Given the description of an element on the screen output the (x, y) to click on. 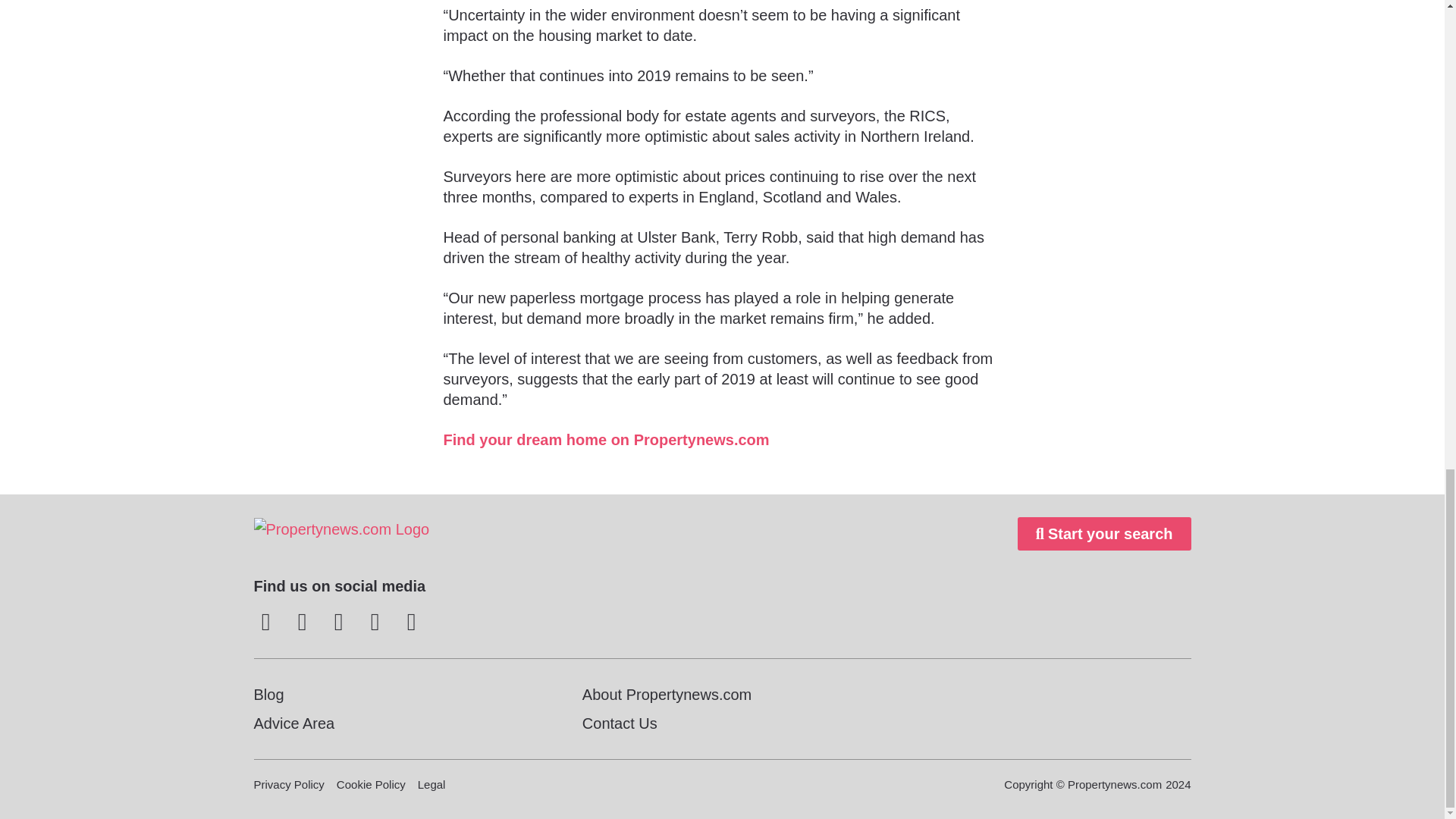
Cookie Policy (371, 784)
Blog (392, 694)
Contact Us (721, 722)
Find your dream home on Propertynews.com (605, 439)
Advice Area (392, 722)
About Propertynews.com (721, 694)
Privacy Policy (288, 784)
Start your search (1104, 533)
